Given the description of an element on the screen output the (x, y) to click on. 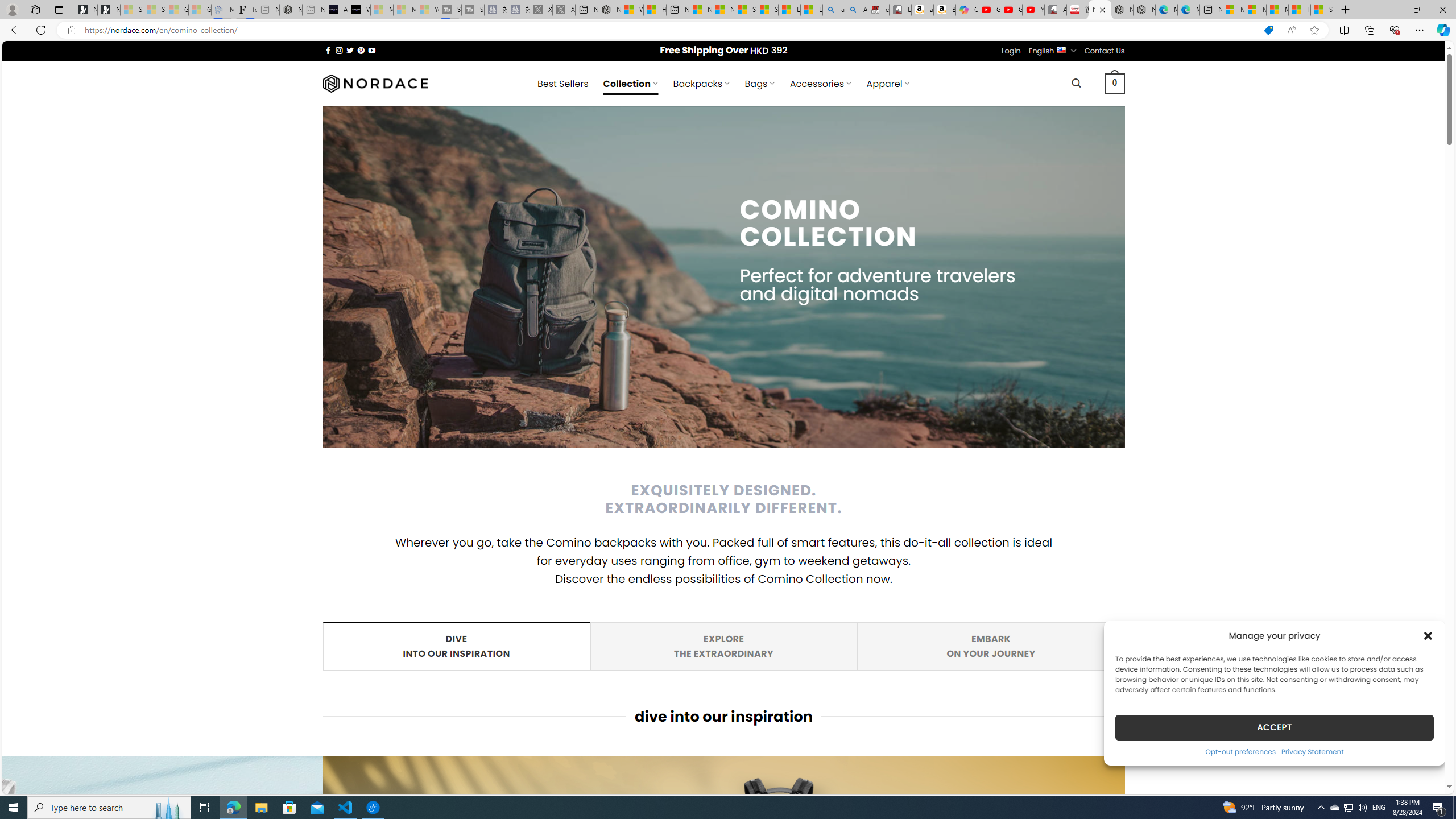
Microsoft Start Sports - Sleeping (381, 9)
Microsoft account | Privacy (1255, 9)
Streaming Coverage | T3 - Sleeping (449, 9)
 0  (1115, 83)
Follow on YouTube (371, 49)
